Given the description of an element on the screen output the (x, y) to click on. 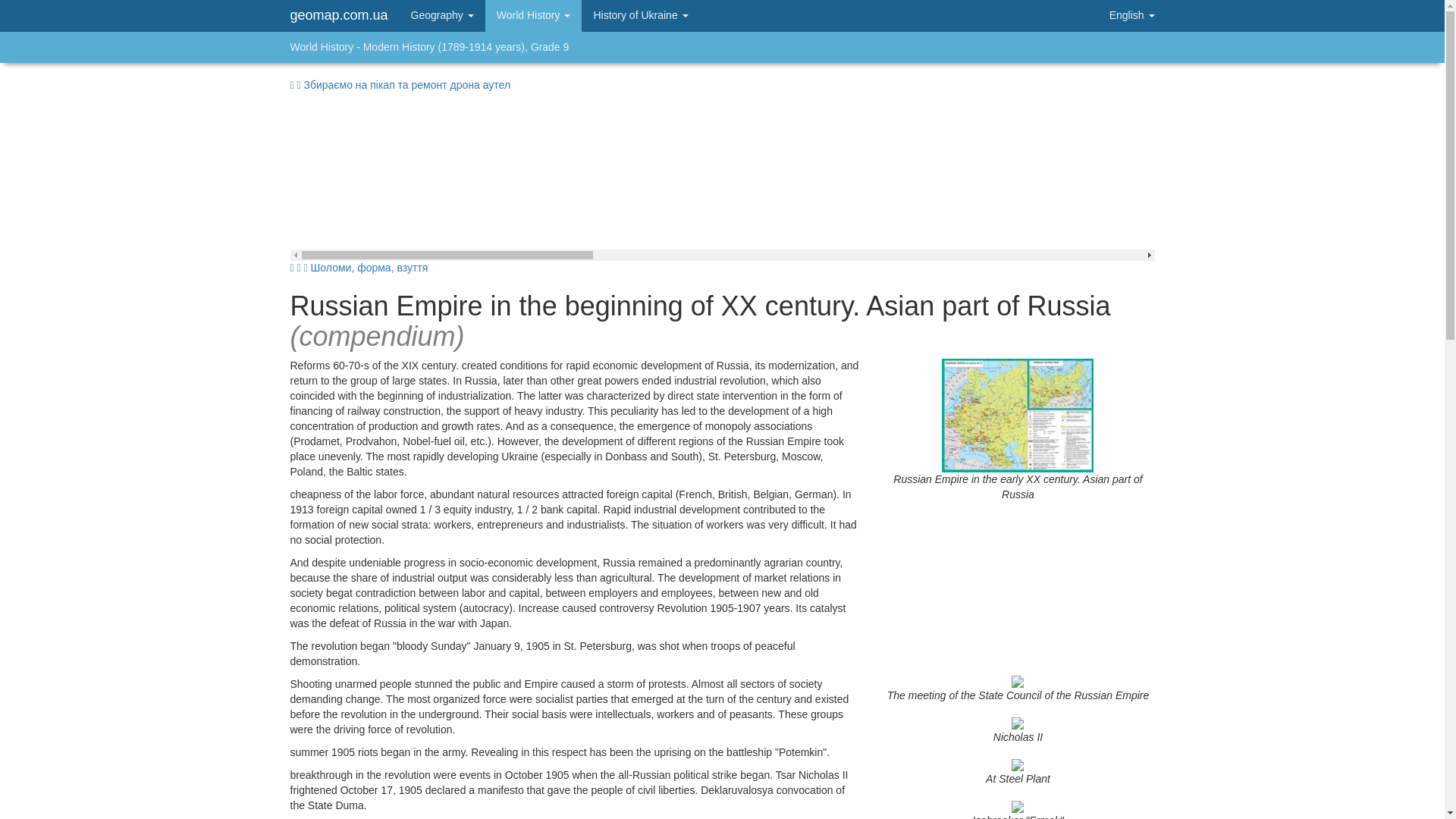
World History (533, 15)
Geography (441, 15)
English (1122, 15)
History of Ukraine (639, 15)
geomap.com.ua (338, 14)
